Given the description of an element on the screen output the (x, y) to click on. 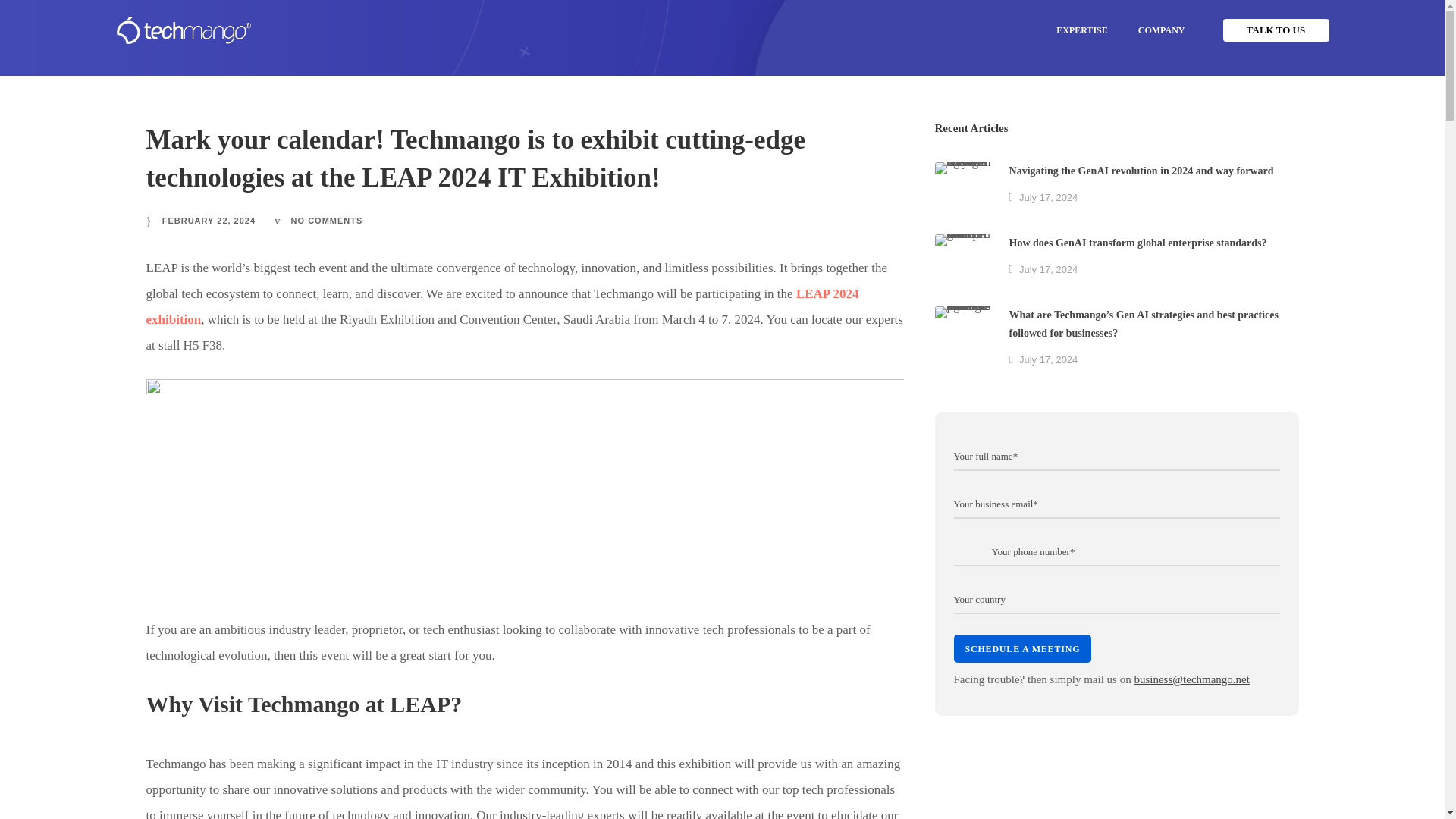
TALK TO US (1275, 29)
COMPANY (1160, 29)
Navigating the GenAI revolution in 2024 and way forward (962, 190)
How GenAI transforms global enterprise standards (962, 262)
EXPERTISE (1081, 29)
Schedule a Meeting (1022, 646)
